Given the description of an element on the screen output the (x, y) to click on. 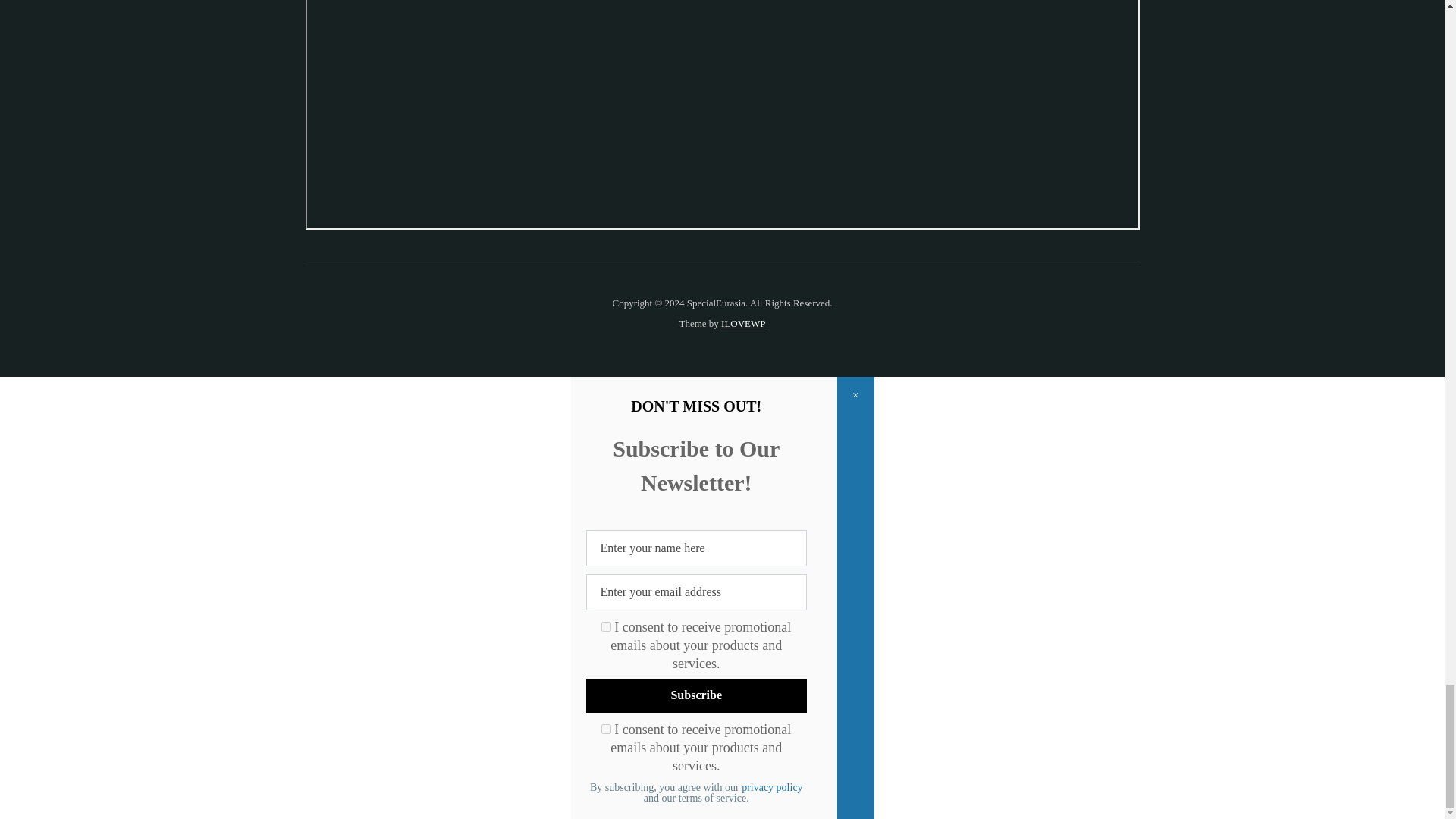
1 (606, 626)
Subscribe (695, 695)
1 (606, 728)
